Given the description of an element on the screen output the (x, y) to click on. 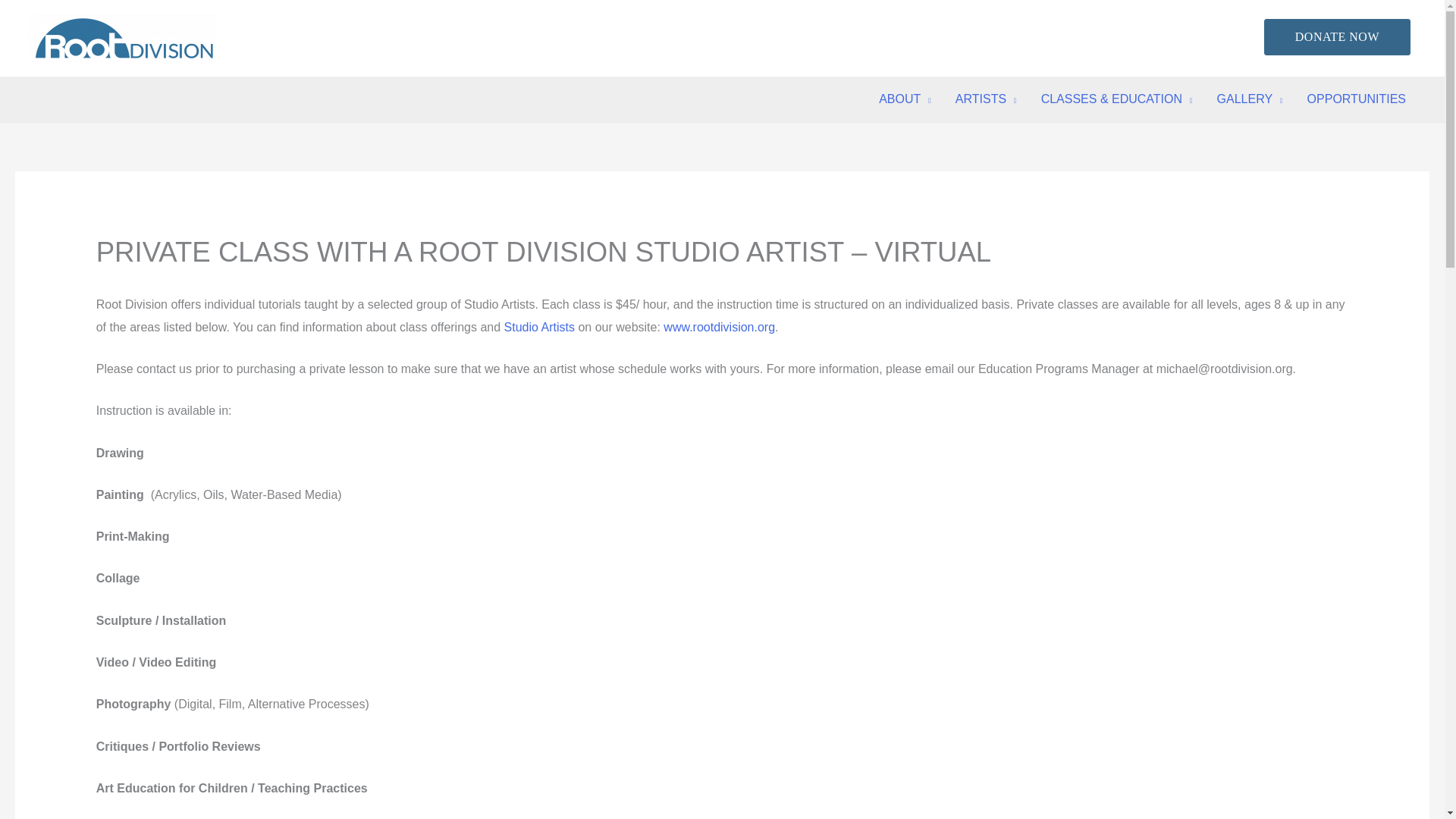
ARTISTS (986, 99)
OPPORTUNITIES (1356, 99)
GALLERY (1250, 99)
DONATE NOW (1336, 36)
ABOUT (904, 99)
